Given the description of an element on the screen output the (x, y) to click on. 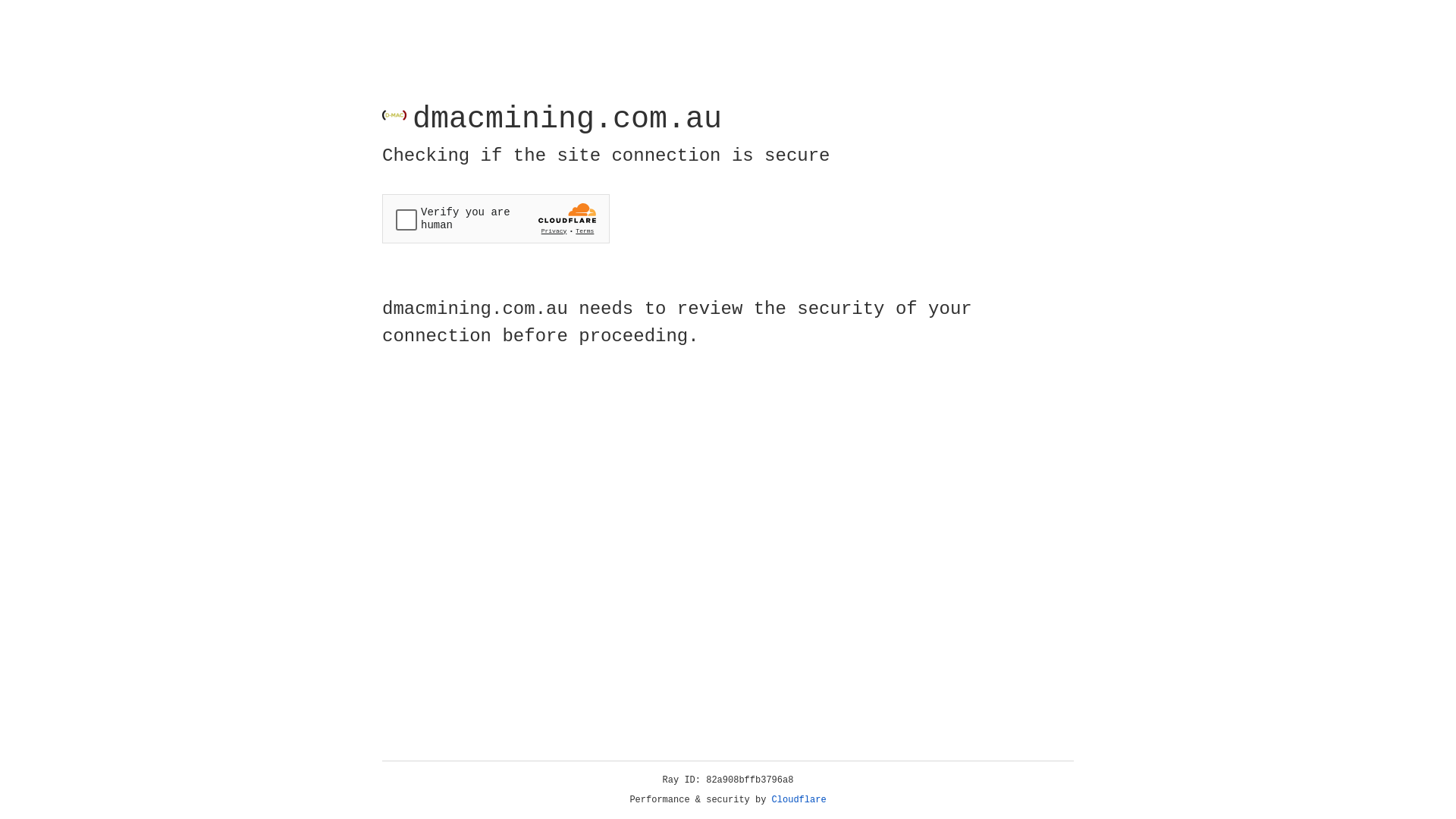
Widget containing a Cloudflare security challenge Element type: hover (495, 218)
Cloudflare Element type: text (798, 799)
